Given the description of an element on the screen output the (x, y) to click on. 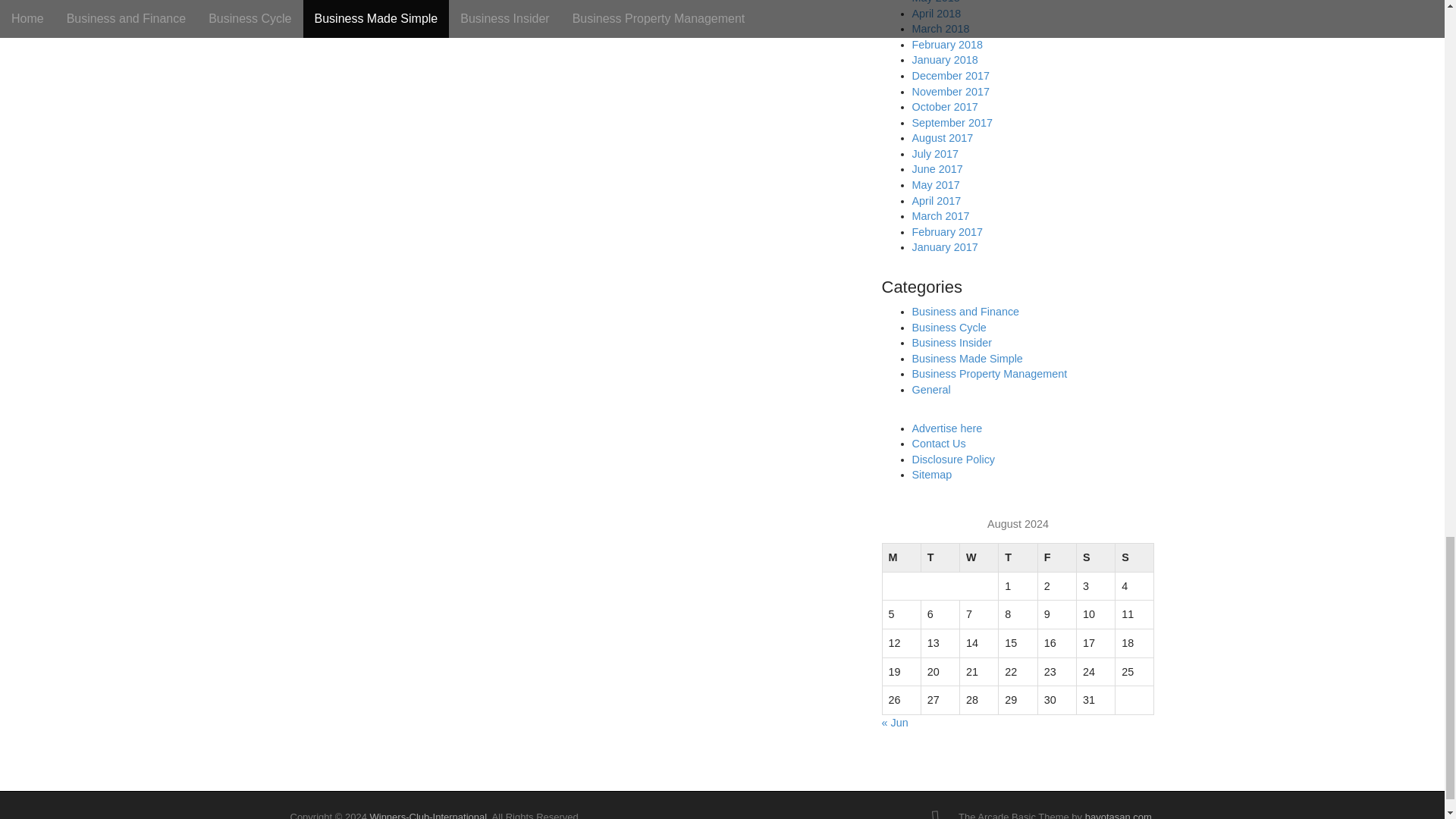
Sunday (1134, 557)
Tuesday (939, 557)
Saturday (1095, 557)
Thursday (1017, 557)
Friday (1055, 557)
Monday (901, 557)
Wednesday (978, 557)
